Given the description of an element on the screen output the (x, y) to click on. 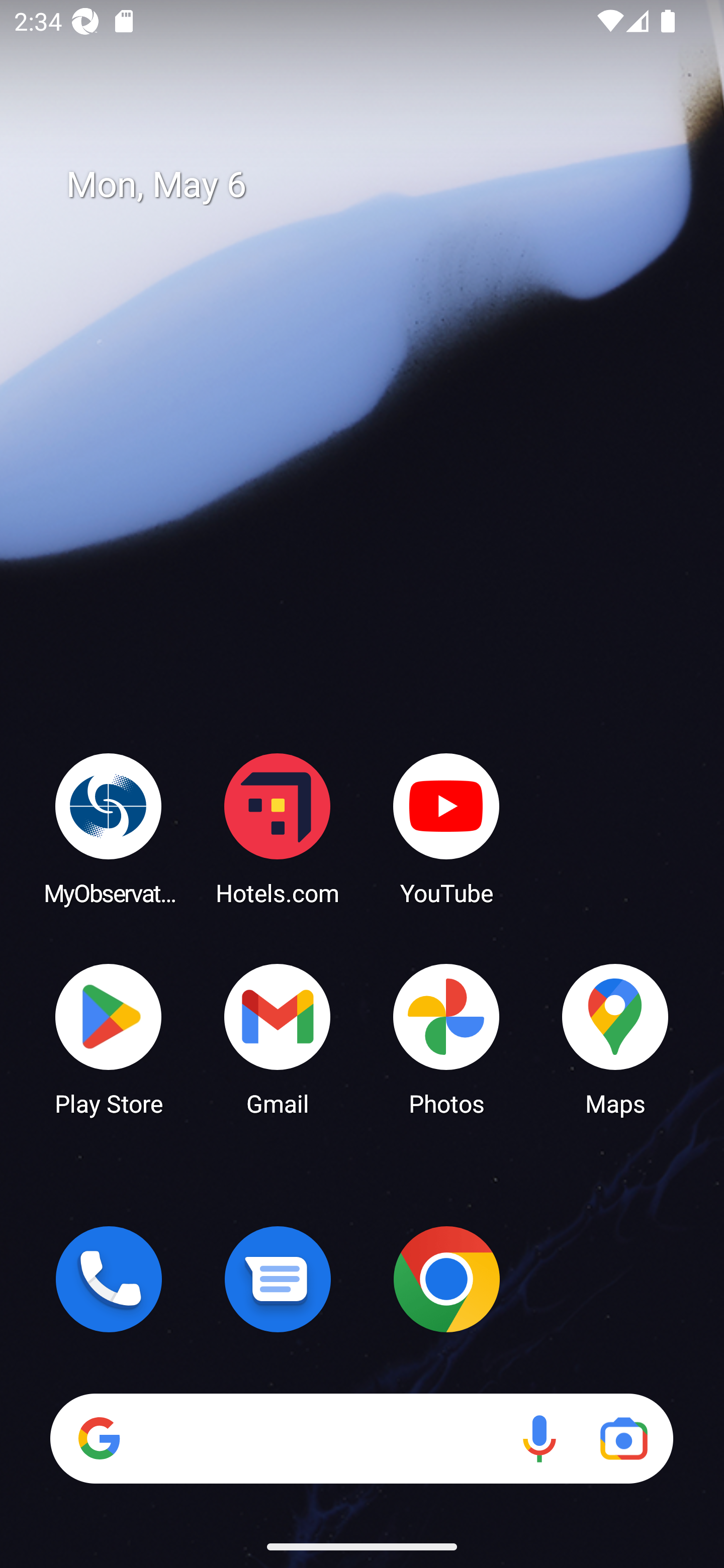
Mon, May 6 (375, 184)
MyObservatory (108, 828)
Hotels.com (277, 828)
YouTube (445, 828)
Play Store (108, 1038)
Gmail (277, 1038)
Photos (445, 1038)
Maps (615, 1038)
Phone (108, 1279)
Messages (277, 1279)
Chrome (446, 1279)
Search Voice search Google Lens (361, 1438)
Voice search (539, 1438)
Google Lens (623, 1438)
